Given the description of an element on the screen output the (x, y) to click on. 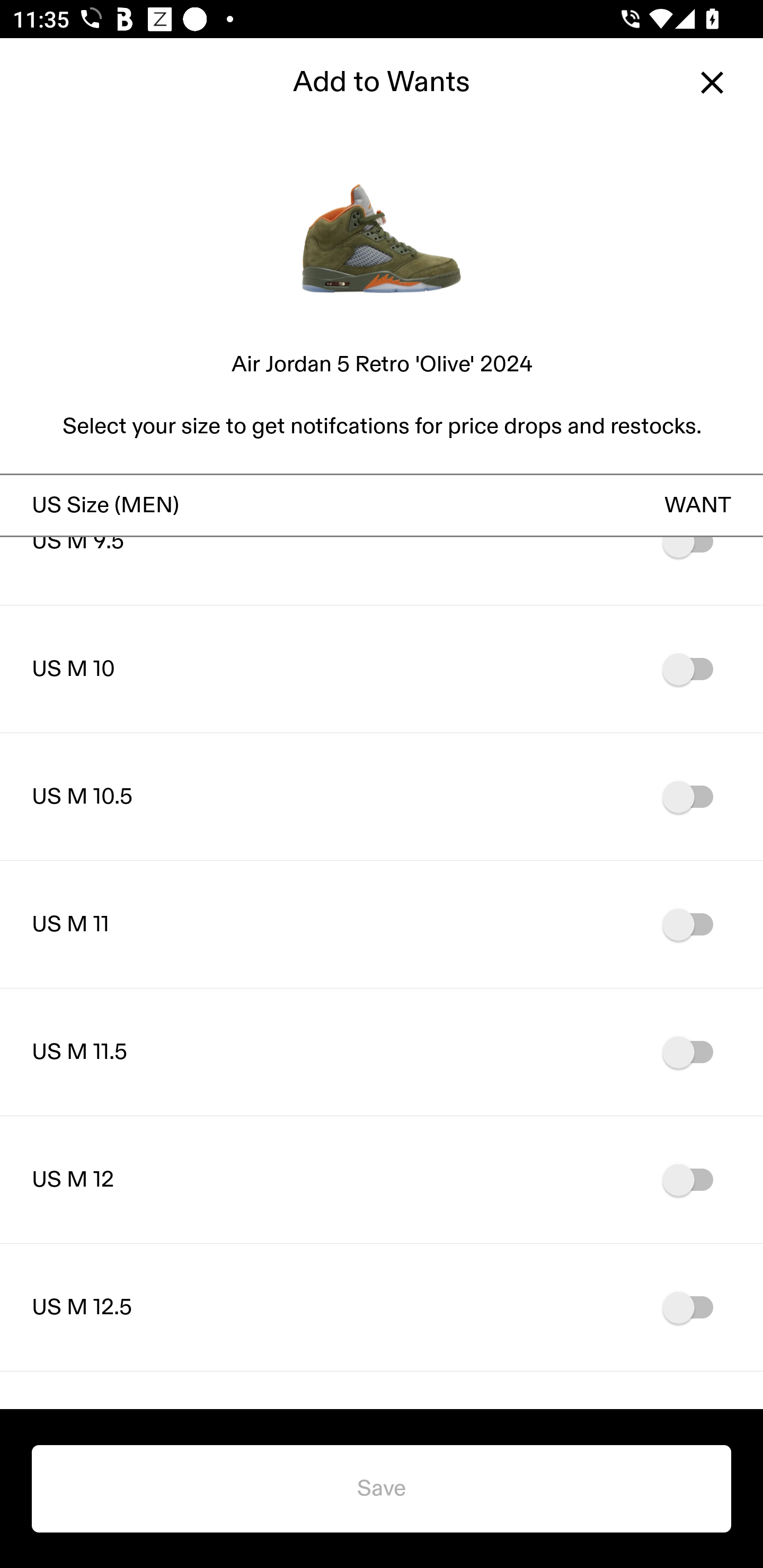
Save (381, 1488)
